Given the description of an element on the screen output the (x, y) to click on. 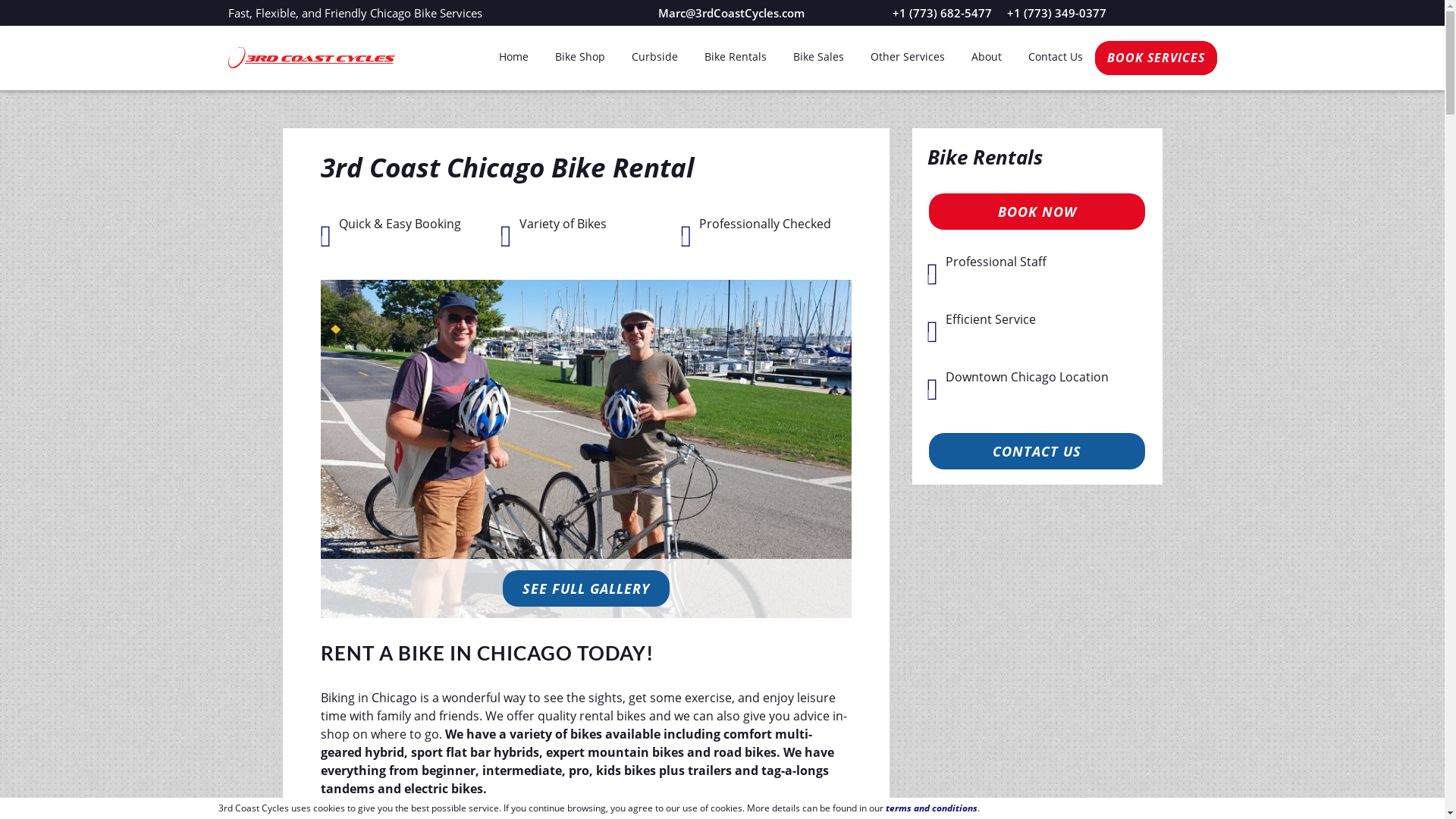
Home Element type: text (513, 56)
Other Services Element type: text (907, 56)
Bike Shop Element type: text (579, 56)
BOOK NOW Element type: text (1036, 211)
About Element type: text (985, 56)
Bike Sales Element type: text (818, 56)
Contact Us Element type: text (1055, 56)
+1 (773) 349-0377 Element type: text (1056, 12)
Curbside Element type: text (653, 56)
CONTACT US Element type: text (1036, 451)
Visit Home page Element type: hover (310, 57)
Marc@3rdCoastCycles.com Element type: text (731, 12)
terms and conditions Element type: text (931, 807)
Bike Rentals Element type: text (734, 56)
+1 (773) 682-5477 Element type: text (941, 12)
BOOK SERVICES Element type: text (1156, 57)
